Given the description of an element on the screen output the (x, y) to click on. 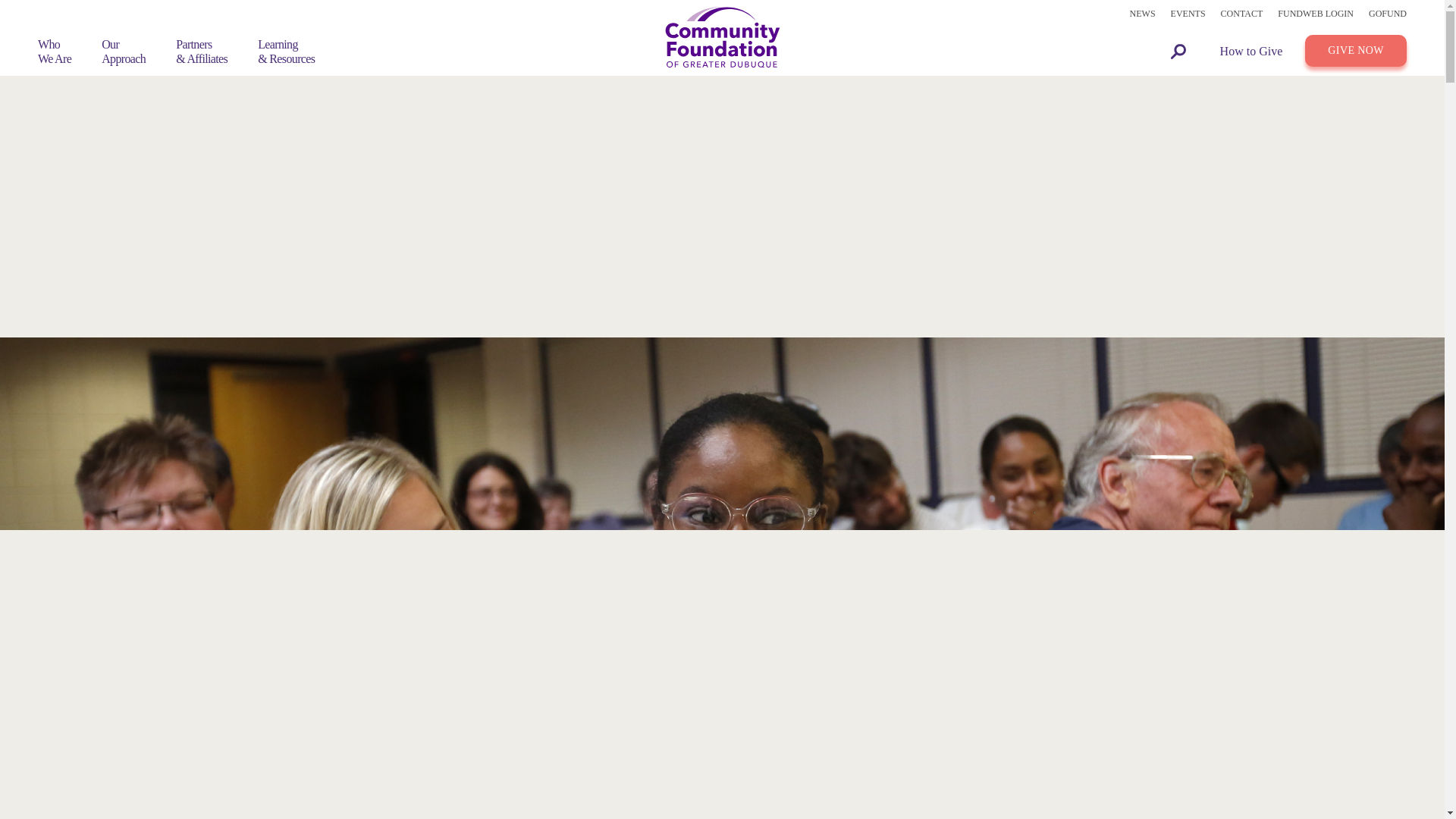
GOFUND (1387, 13)
FUNDWEB LOGIN (1316, 13)
CONTACT (1242, 13)
NEWS (1142, 13)
EVENTS (1187, 13)
